Given the description of an element on the screen output the (x, y) to click on. 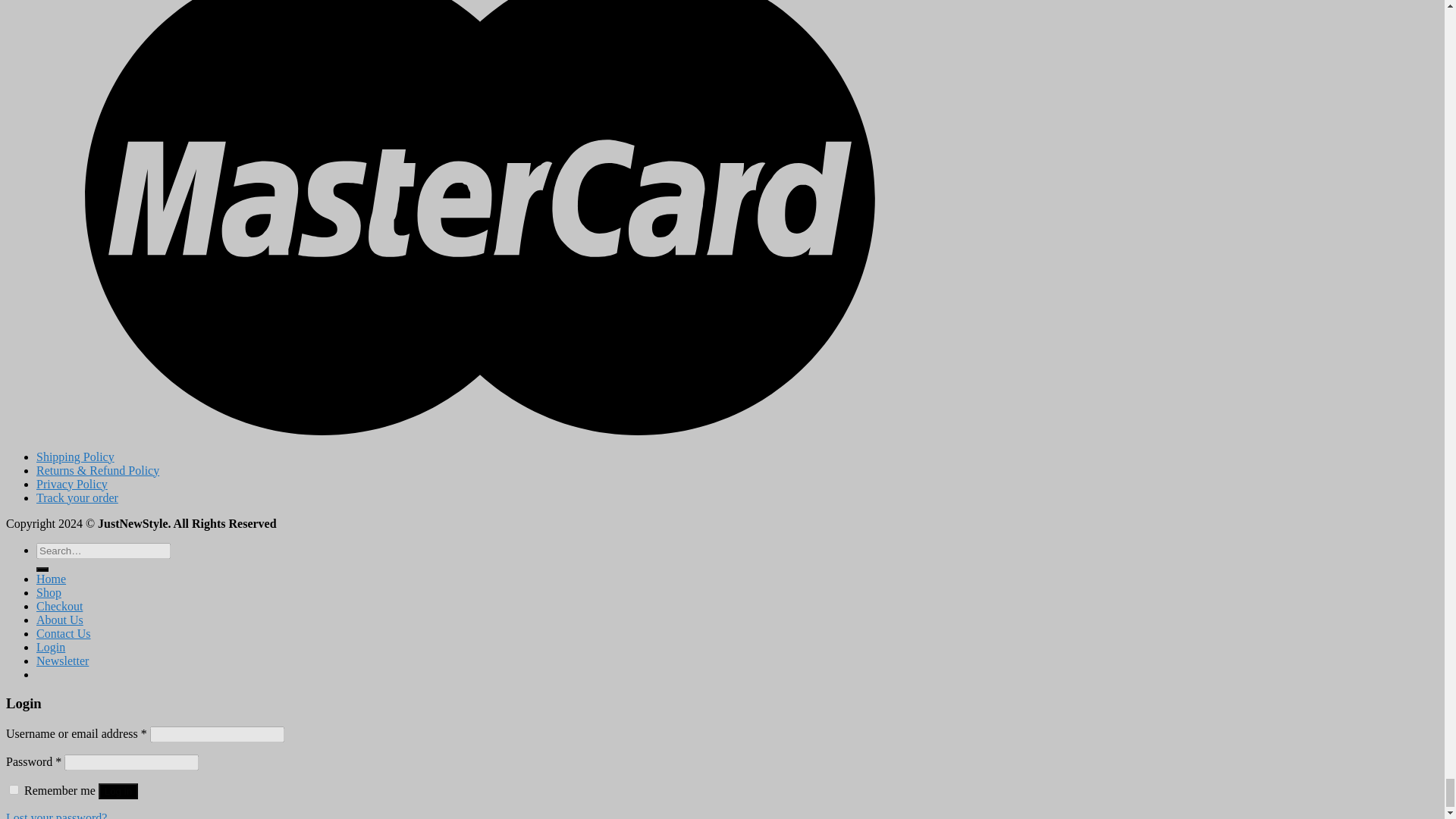
forever (13, 789)
